Given the description of an element on the screen output the (x, y) to click on. 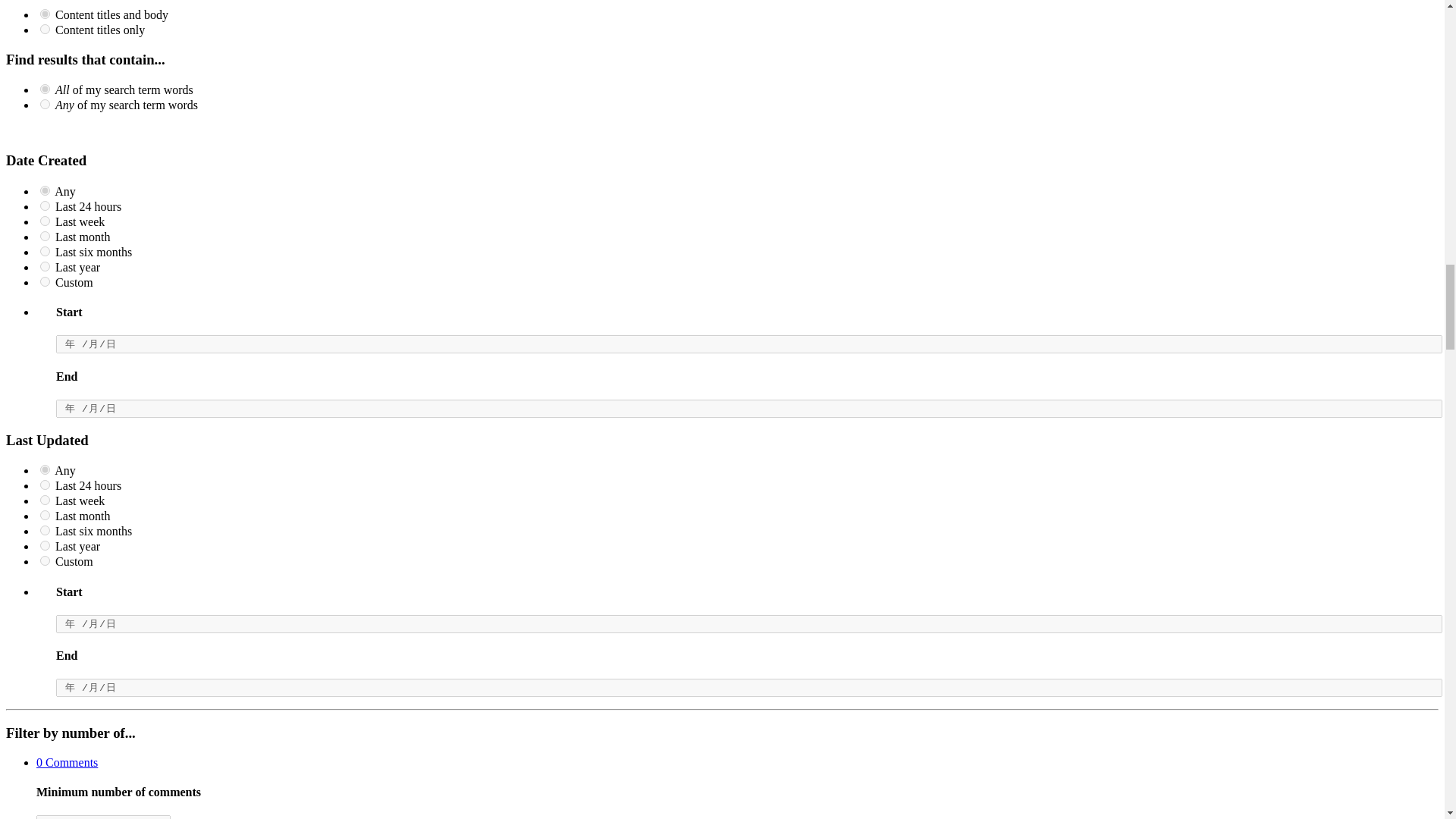
titles (44, 29)
and (44, 89)
all (44, 13)
